Given the description of an element on the screen output the (x, y) to click on. 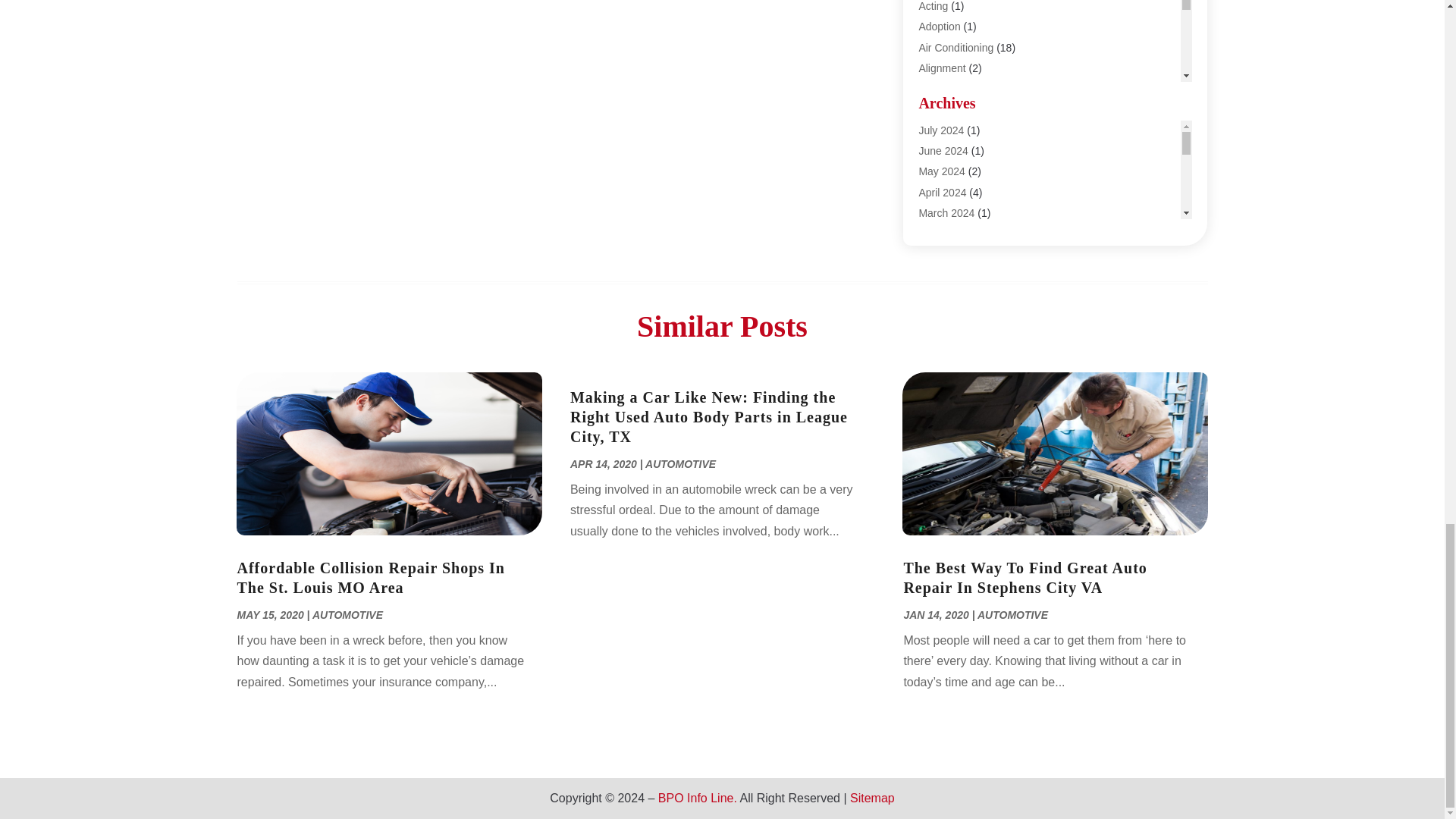
Bpoinfoline (944, 171)
Carpet Cleaning (956, 274)
Adoption (938, 26)
Allergy-Doctor (951, 88)
Car Dealers (946, 253)
Bail Bonds (943, 150)
Call Center Services (966, 232)
Call Center Outsourcing (974, 212)
Automotive (944, 129)
Alignment (941, 68)
Air Conditioning (955, 47)
Business (939, 191)
Acting (932, 6)
Appliances (944, 109)
